Given the description of an element on the screen output the (x, y) to click on. 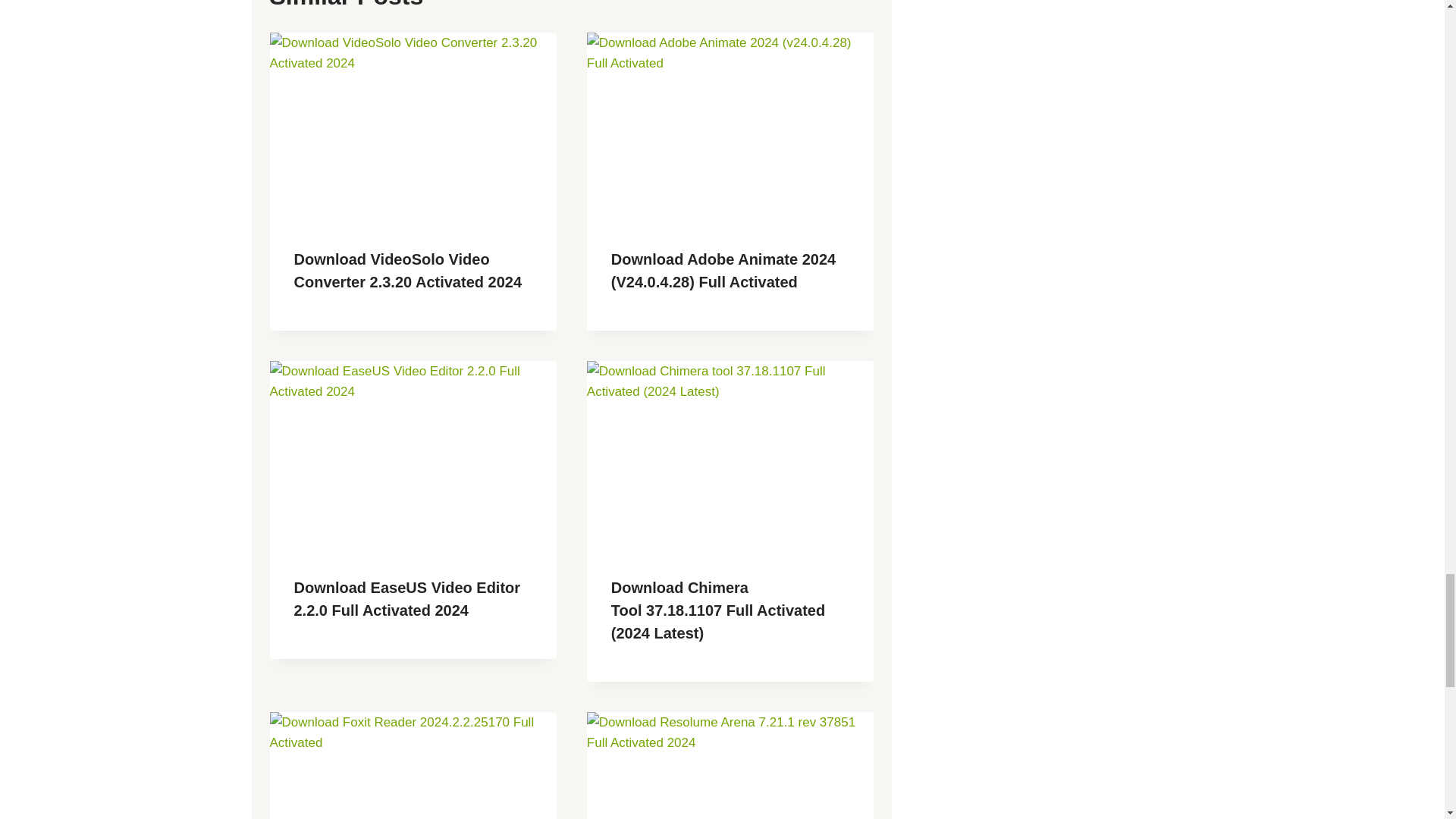
Download VideoSolo Video Converter 2.3.20 Activated 2024 (408, 270)
